Given the description of an element on the screen output the (x, y) to click on. 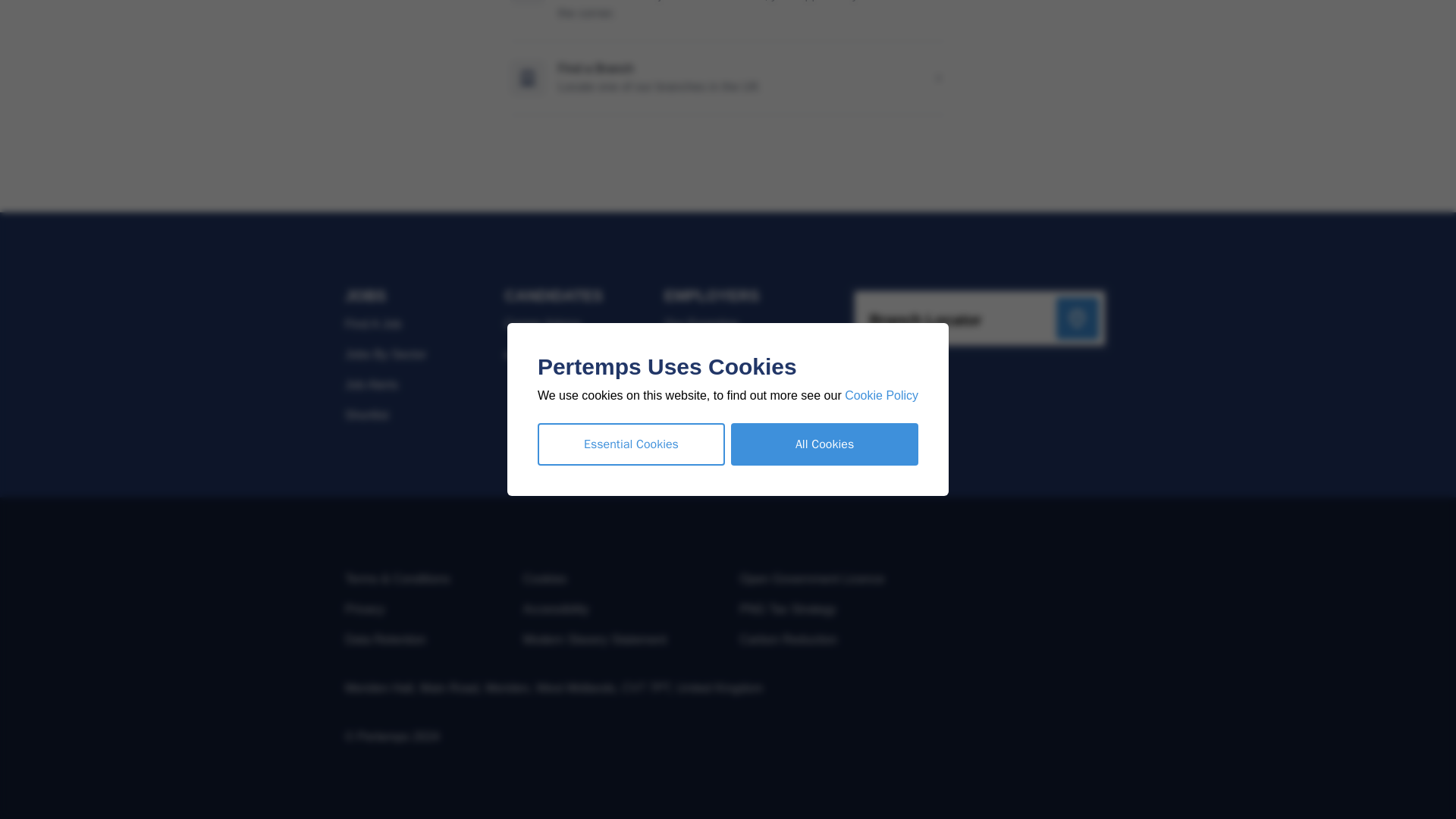
All Cookies (824, 30)
Essential Cookies (631, 30)
